Given the description of an element on the screen output the (x, y) to click on. 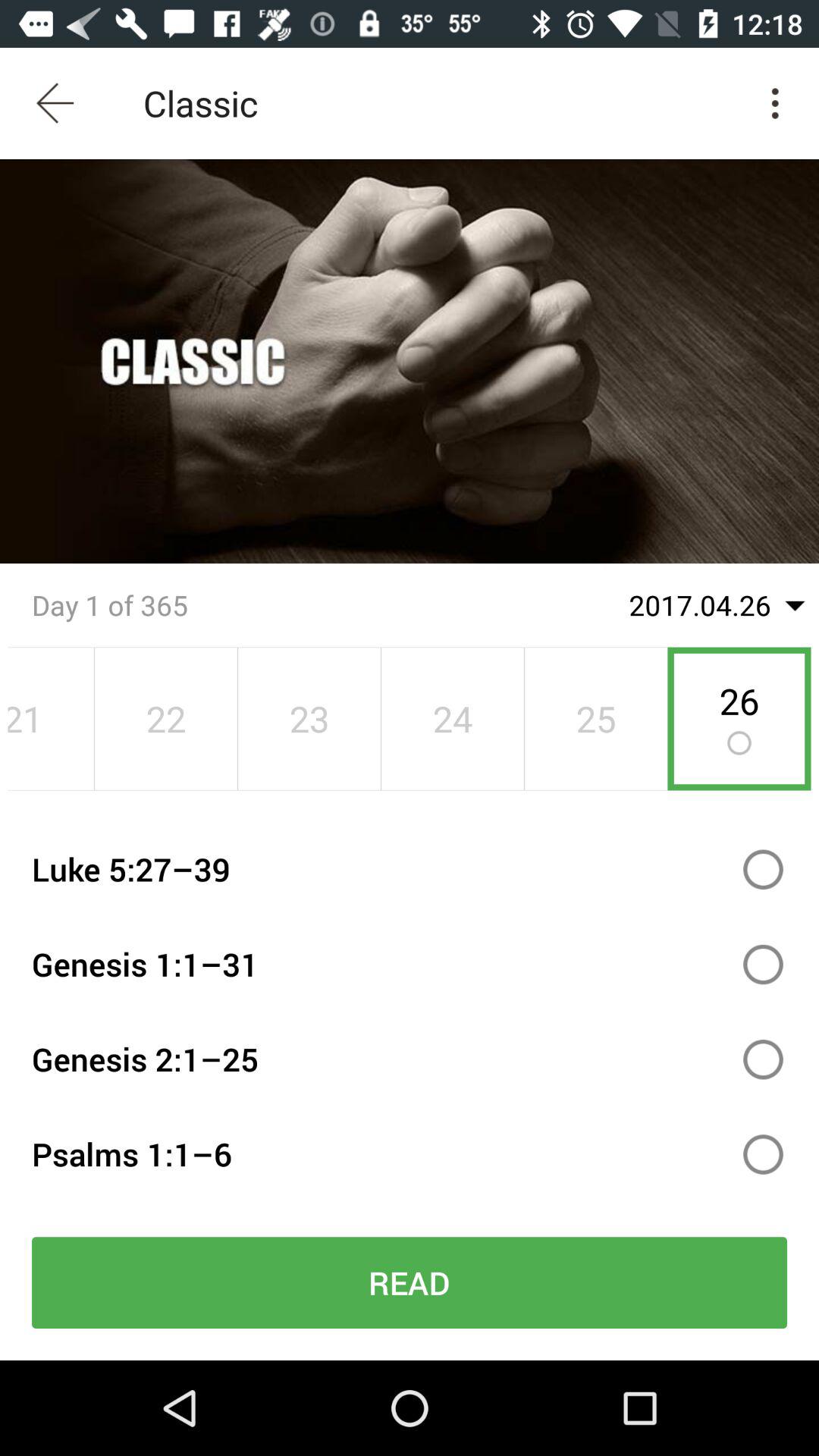
select this option (763, 869)
